Given the description of an element on the screen output the (x, y) to click on. 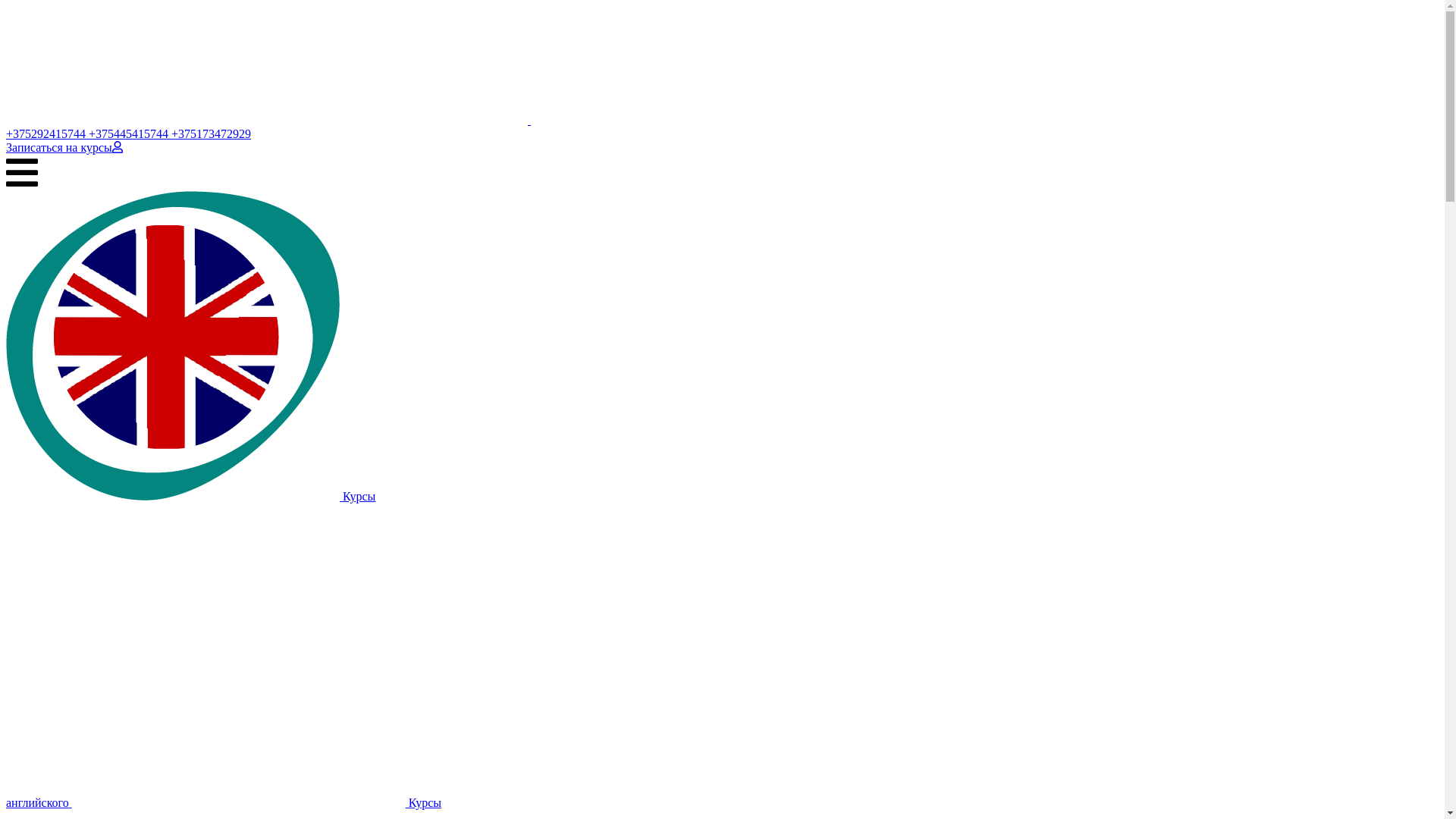
+375445415744 Element type: text (129, 133)
+375292415744 Element type: text (47, 133)
+375173472929 Element type: text (211, 133)
